Given the description of an element on the screen output the (x, y) to click on. 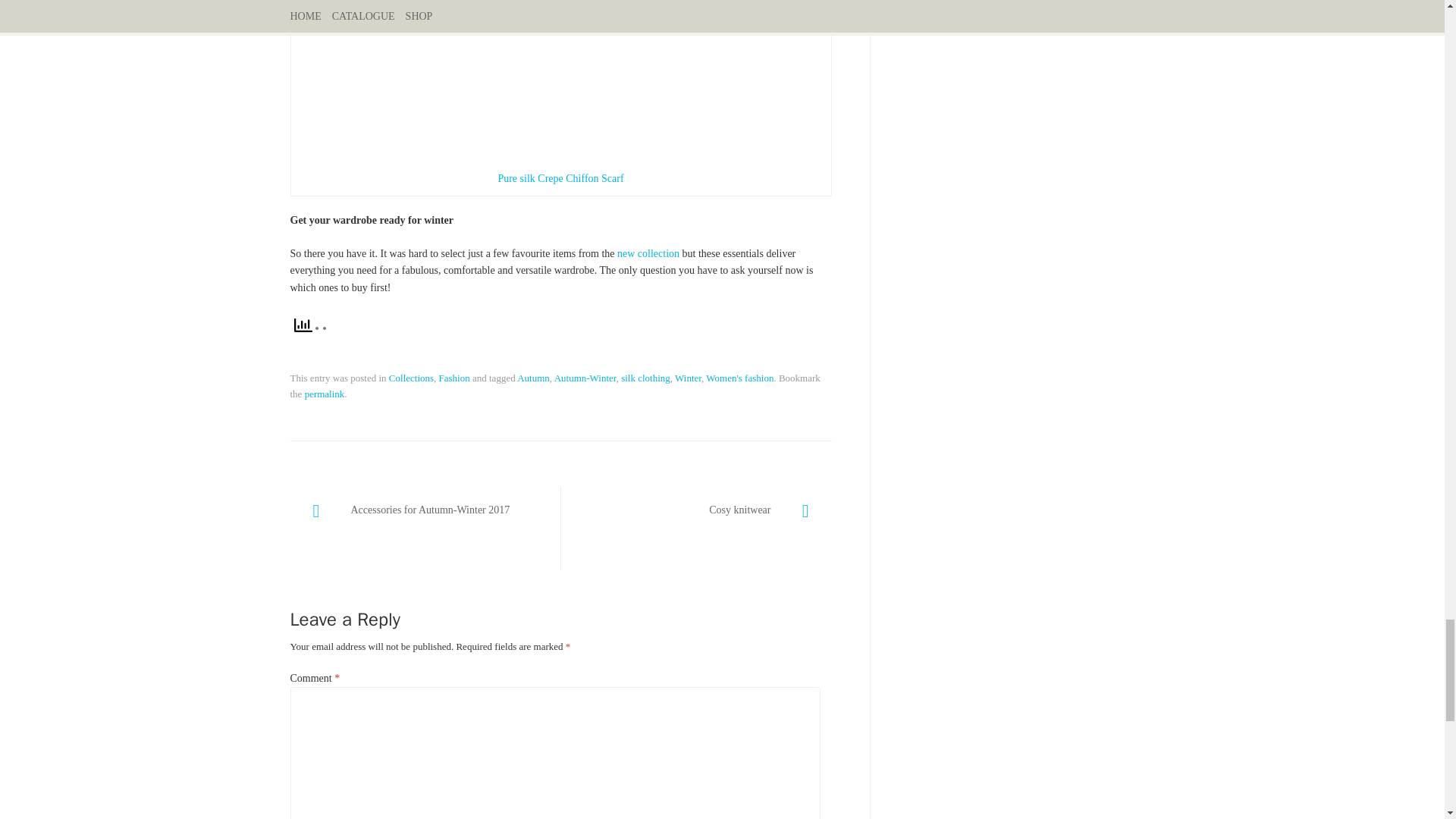
new collection (648, 253)
Collections (410, 378)
Autumn-Winter (584, 378)
Pure silk Crepe Chiffon Scarf (560, 178)
silk clothing (645, 378)
Fashion (454, 378)
Women's fashion (739, 378)
Winter (688, 378)
Autumn (533, 378)
